Given the description of an element on the screen output the (x, y) to click on. 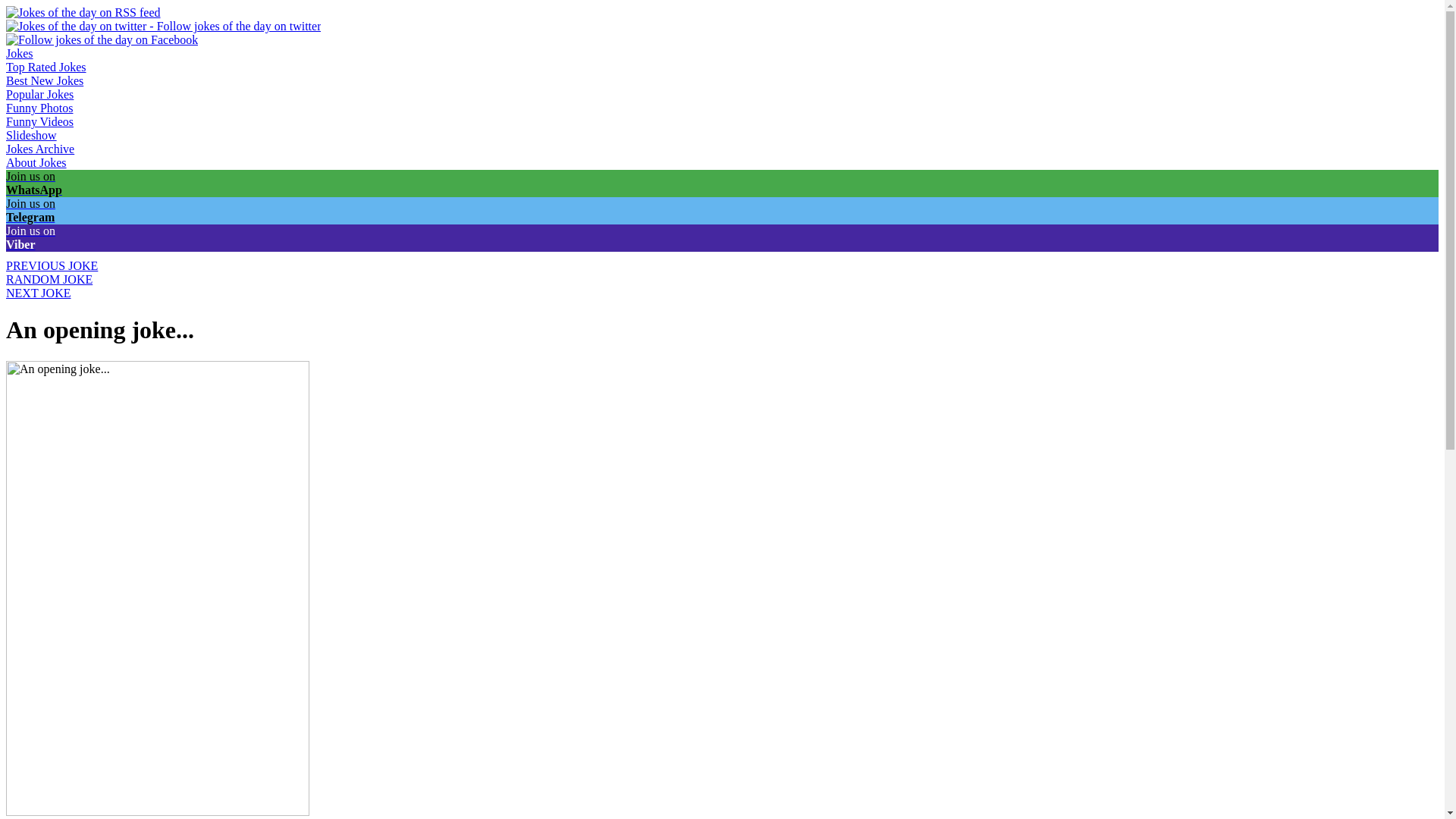
Follow jokes of the day on Facebook (101, 39)
Jokes Archive (39, 148)
Top Rated Jokes (45, 66)
Slideshow (30, 134)
The best jokes in the last 4 weeks (43, 80)
Jokes Archive (39, 148)
Jokes (19, 52)
Slideshow (30, 134)
Funny Videos (39, 121)
Popular Jokes (39, 93)
About Jokes (35, 162)
About Jokes (35, 162)
Funny Photos (38, 107)
The Best Jokes - top rated jokes (45, 66)
